Given the description of an element on the screen output the (x, y) to click on. 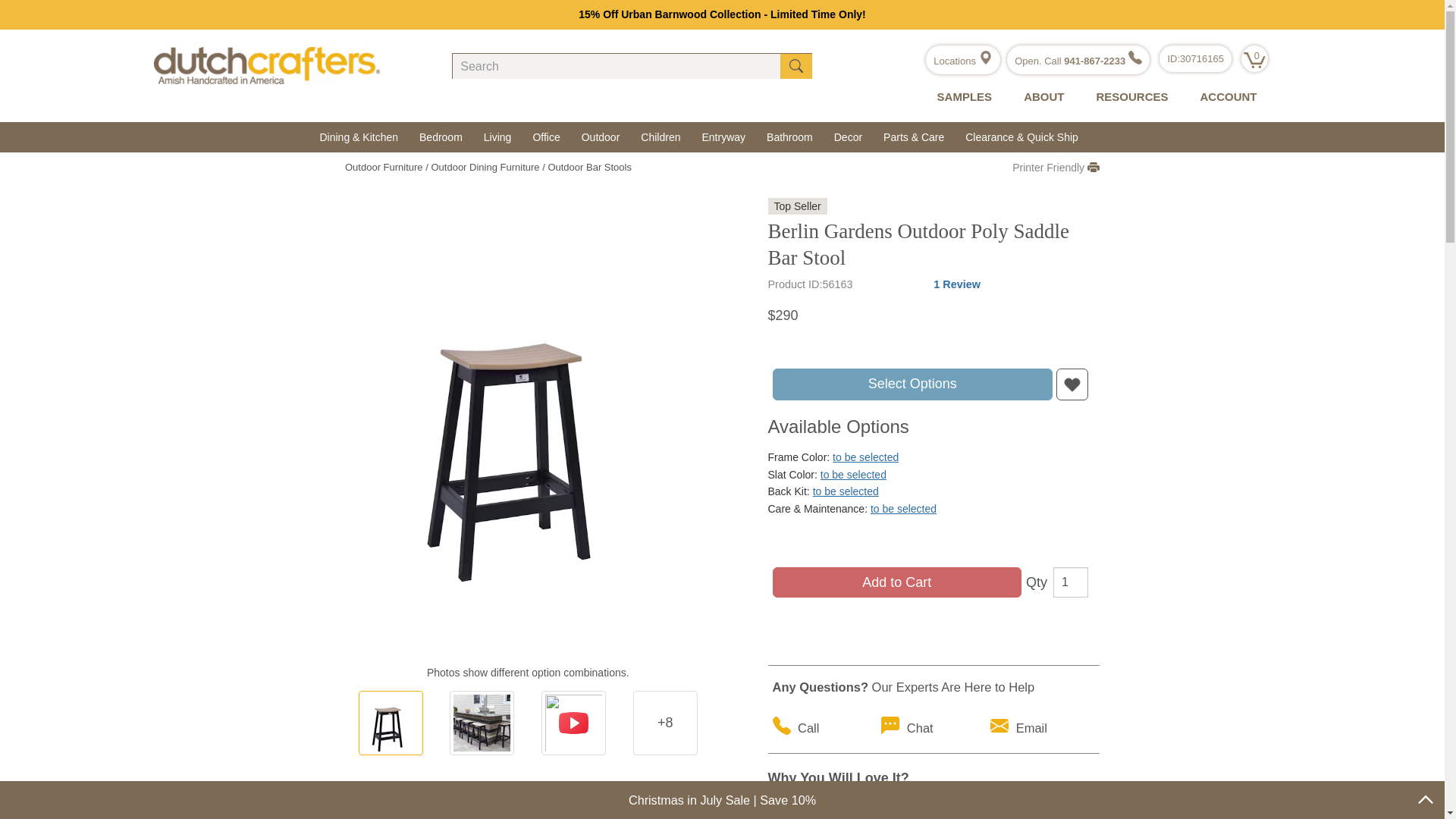
0 (1254, 59)
RESOURCES (1128, 96)
ABOUT (1039, 96)
Locations (962, 60)
SAMPLES (961, 96)
1 (1069, 582)
Open. Call 941-867-2233 (1077, 60)
ACCOUNT (1224, 96)
